Given the description of an element on the screen output the (x, y) to click on. 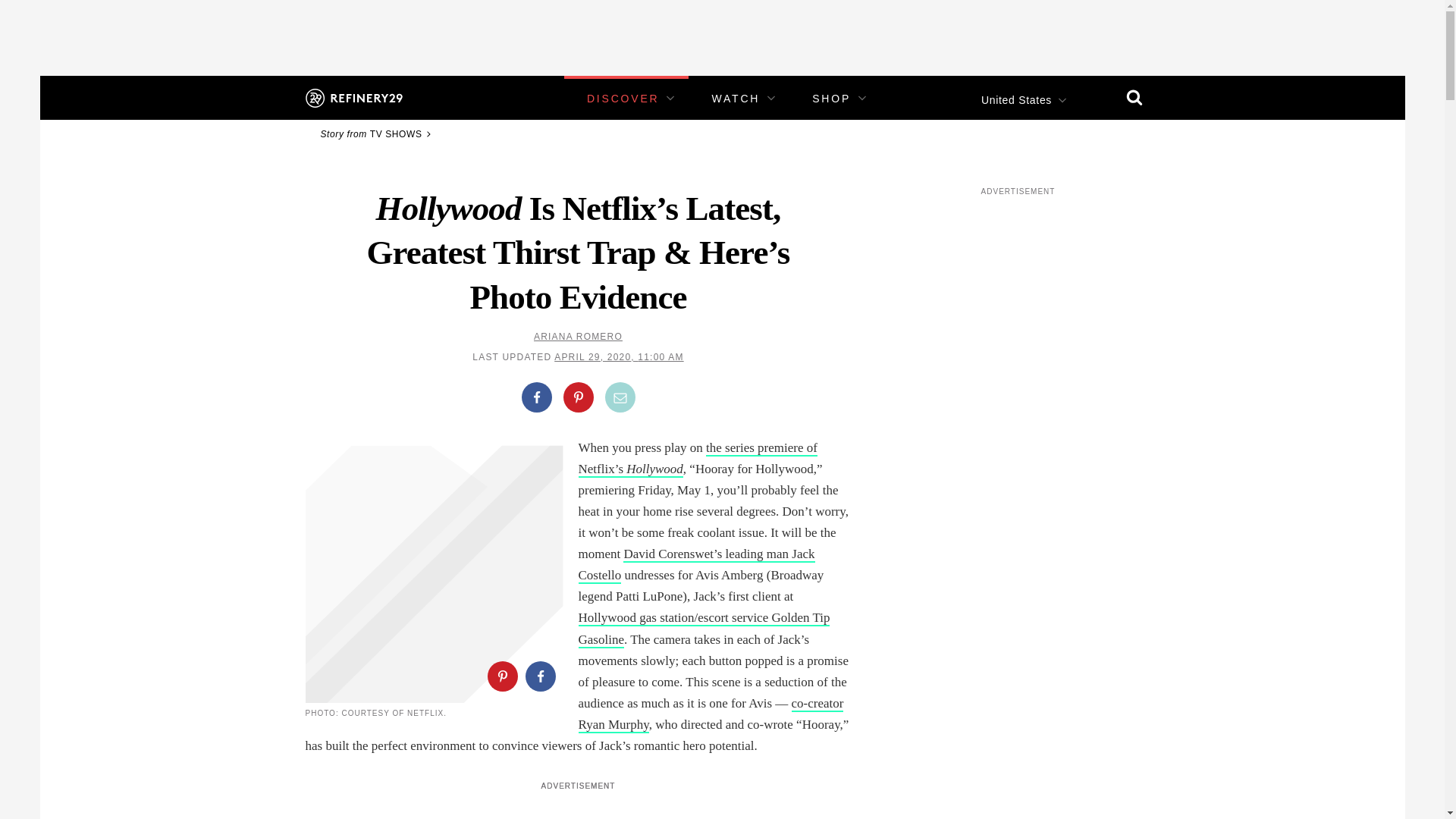
ARIANA ROMERO (578, 336)
WATCH (735, 98)
DISCOVER (622, 98)
SHOP (831, 98)
Share on Pinterest (577, 397)
APRIL 29, 2020, 11:00 AM (618, 357)
Refinery29 (352, 97)
Story from TV SHOWS (377, 133)
Hollywood (654, 469)
Share by Email (619, 397)
Share on Pinterest (501, 675)
co-creator Ryan Murphy (710, 714)
